Given the description of an element on the screen output the (x, y) to click on. 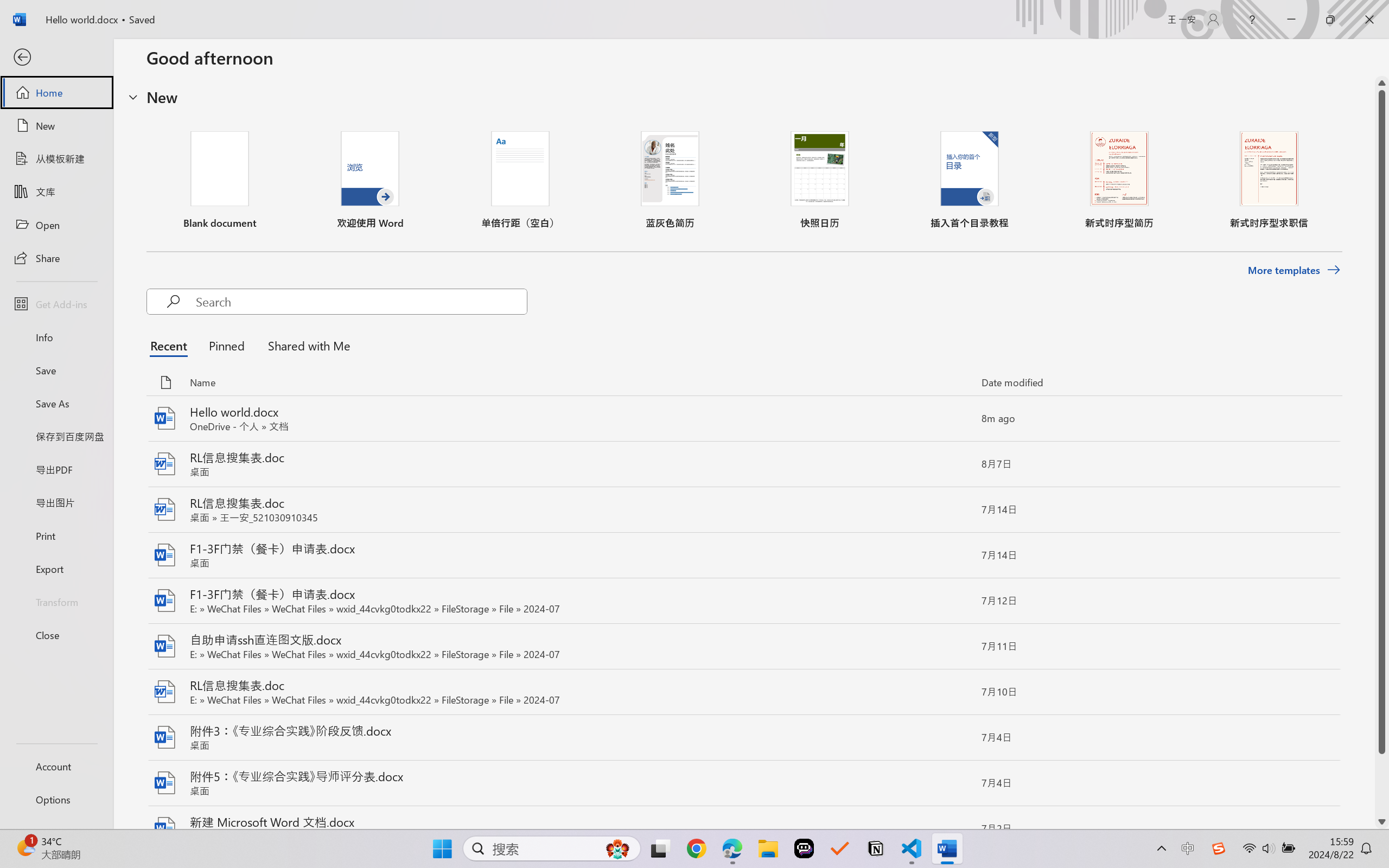
Close (56, 634)
Share (56, 257)
Save As (56, 403)
Search (360, 301)
Pinned (226, 345)
Hide or show region (133, 96)
Class: Image (1218, 847)
Restore Down (1330, 19)
Close (1369, 19)
